Given the description of an element on the screen output the (x, y) to click on. 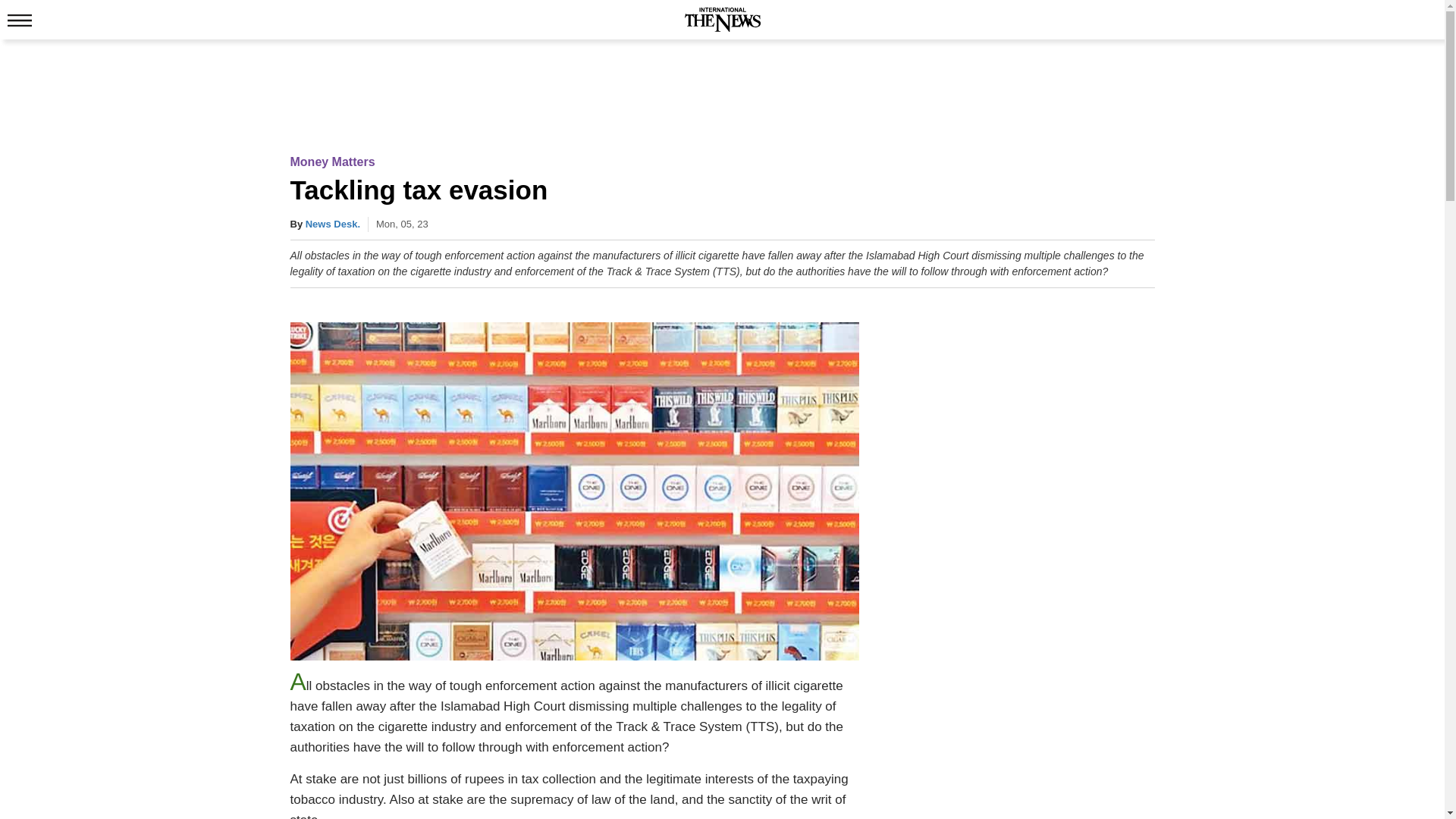
News Desk. (332, 224)
